Given the description of an element on the screen output the (x, y) to click on. 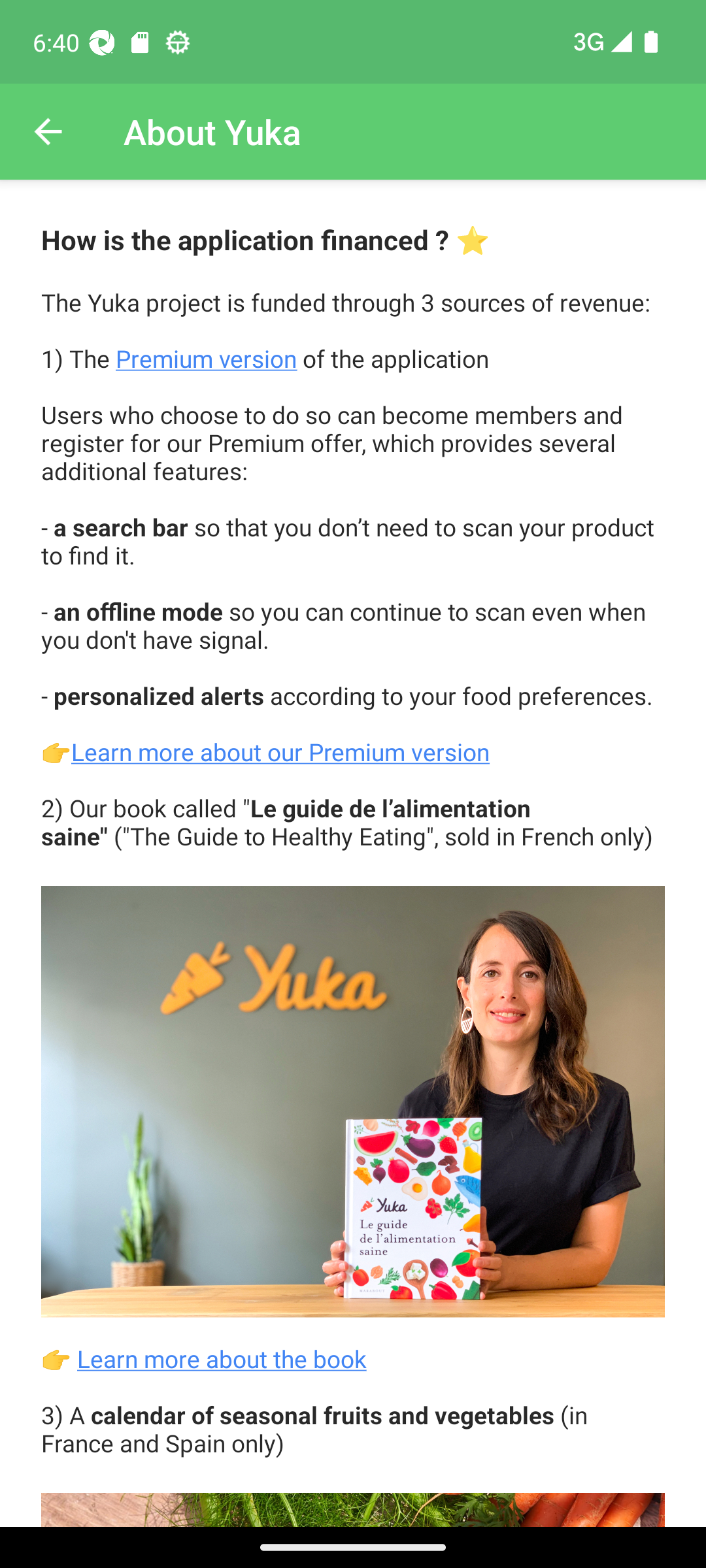
Navigate up (48, 131)
